Given the description of an element on the screen output the (x, y) to click on. 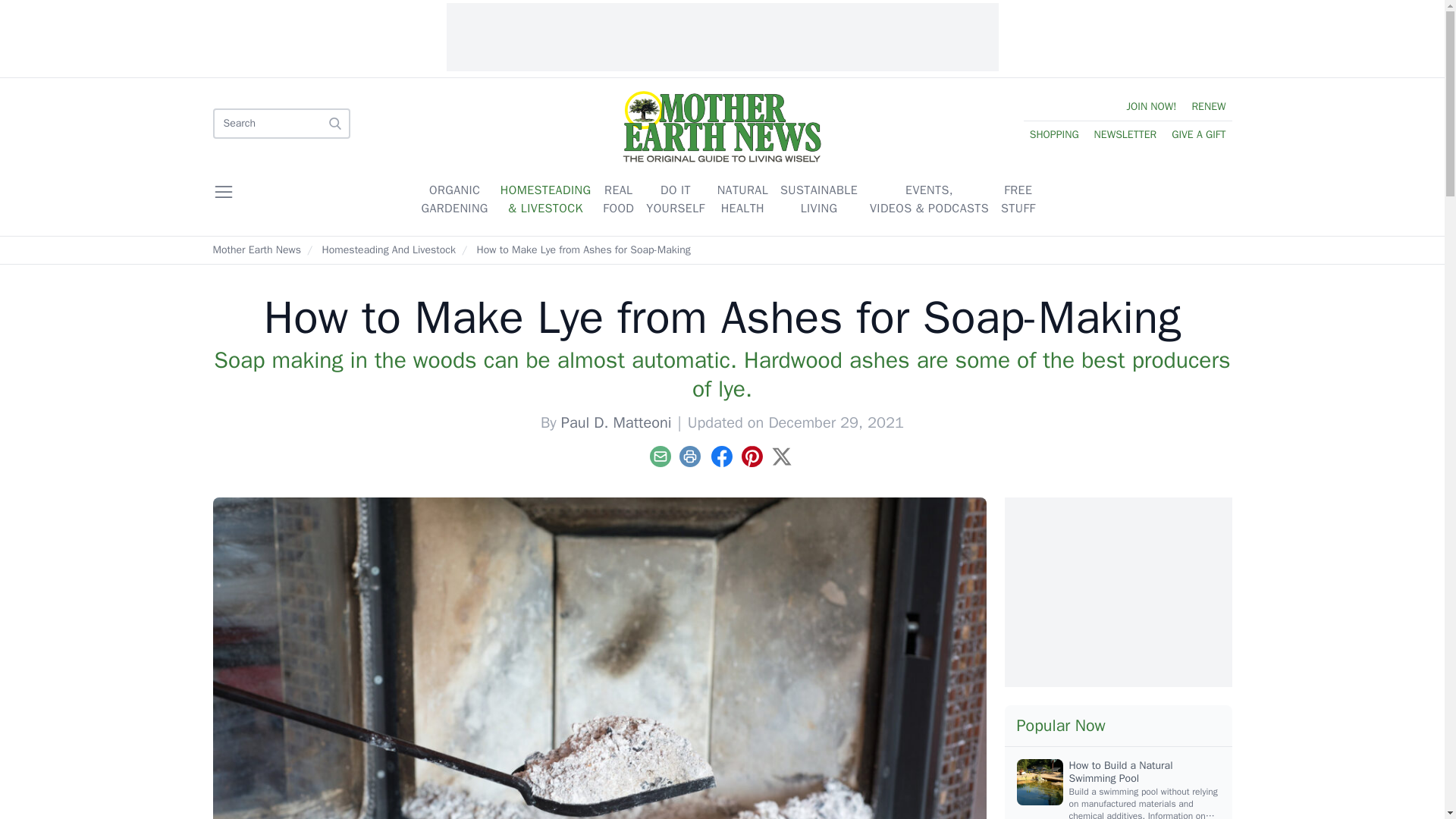
Mother Earth News (256, 249)
Homesteading And Livestock (388, 249)
